Given the description of an element on the screen output the (x, y) to click on. 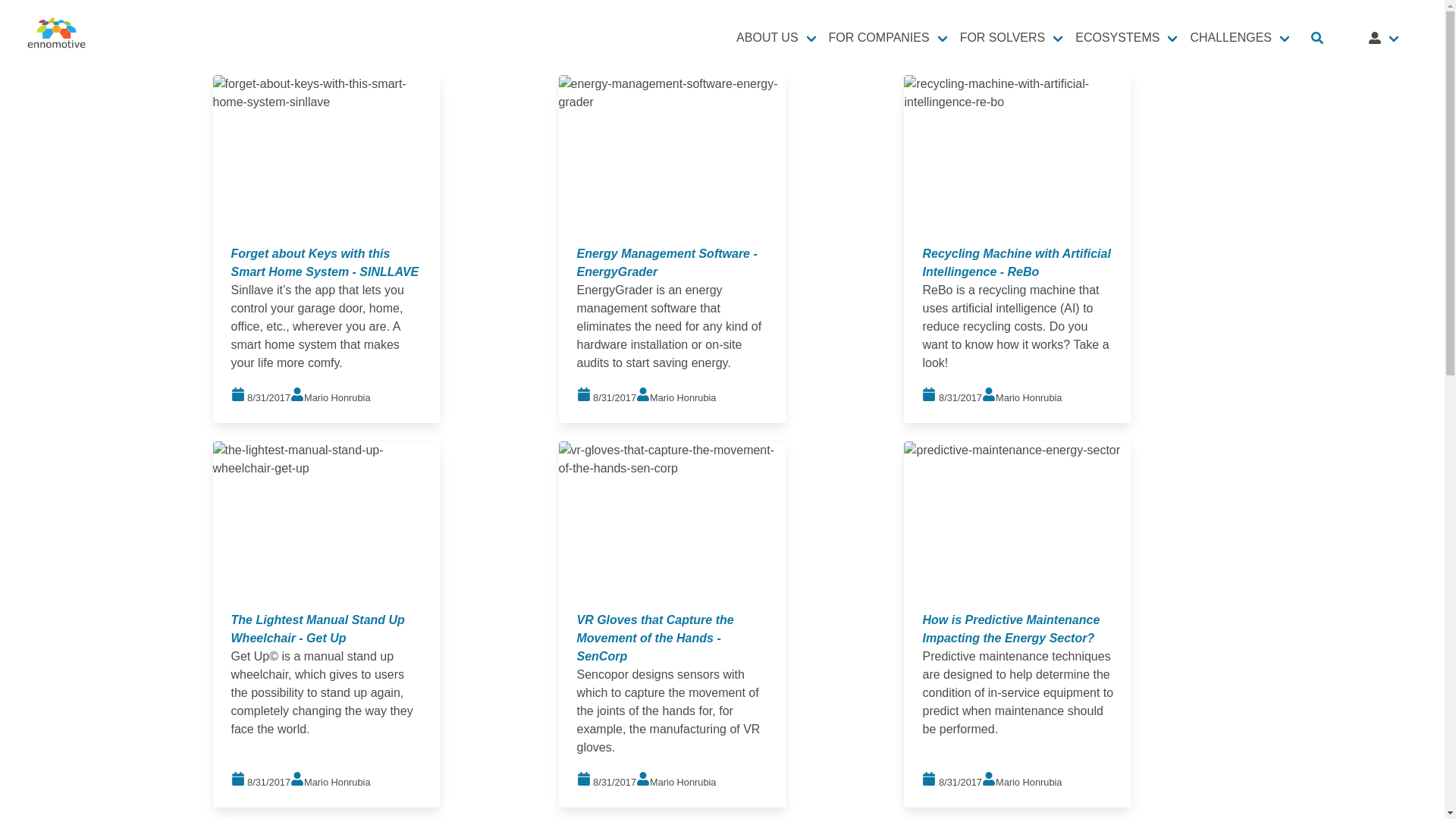
The Lightest Manual Stand Up Wheelchair - Get Up (317, 628)
How is Predictive Maintenance Impacting the Energy Sector? (1010, 628)
VR Gloves that Capture the Movement of the Hands - SenCorp (654, 637)
Recycling Machine with Artificial Intellingence - ReBo (1015, 262)
Energy Management Software - EnergyGrader (666, 262)
Forget about Keys with this Smart Home System - SINLLAVE (325, 262)
